Given the description of an element on the screen output the (x, y) to click on. 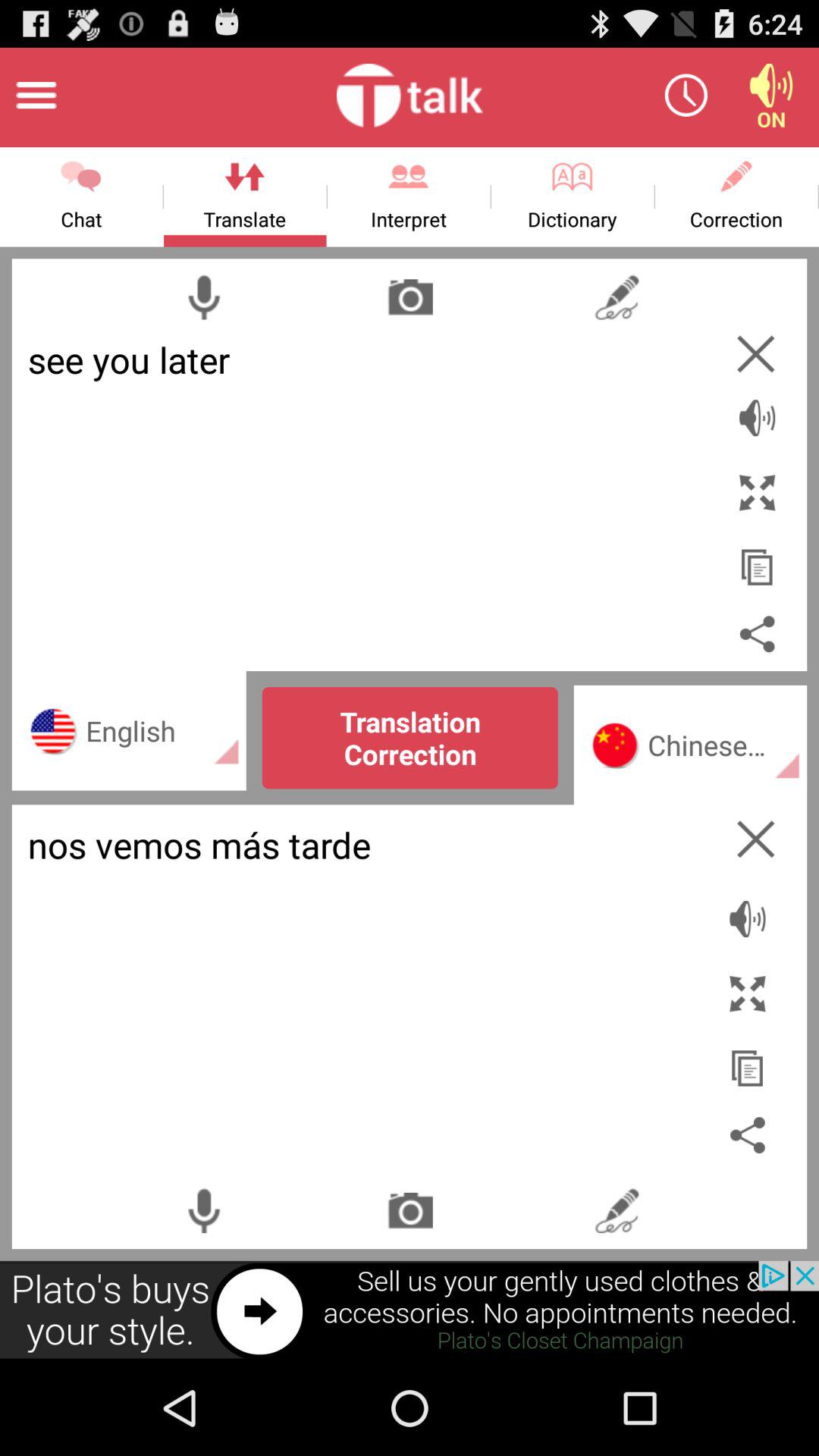
select the on option which is on the top right corner of the page (771, 95)
